Given the description of an element on the screen output the (x, y) to click on. 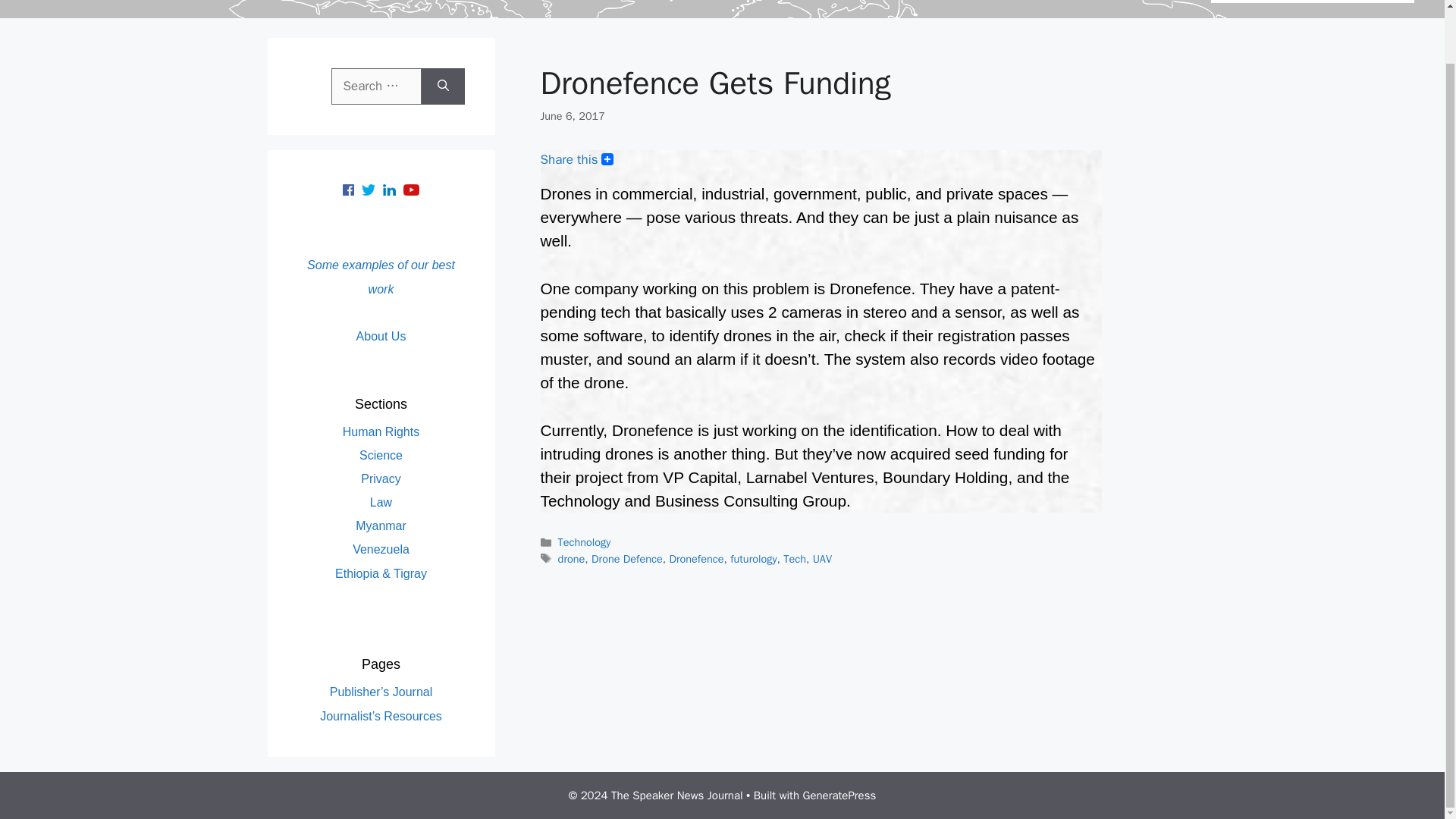
Privacy (380, 478)
News (1249, 1)
Human Rights (380, 431)
Drone Defence (626, 558)
Venezuela (380, 549)
Search for: (375, 85)
The Speaker News Journal (107, 1)
Tech (794, 558)
Myanmar (380, 525)
Dronefence (695, 558)
